Given the description of an element on the screen output the (x, y) to click on. 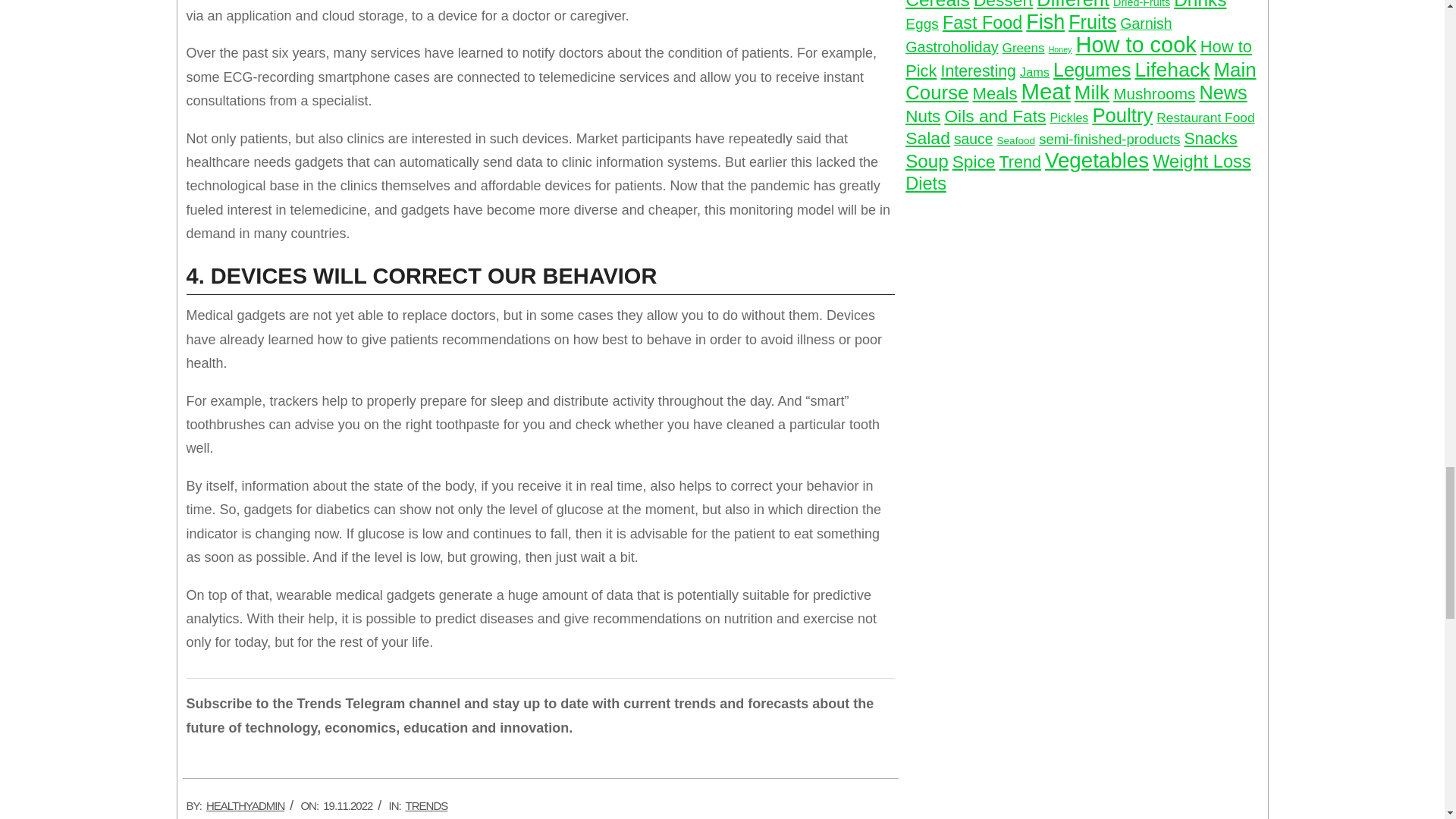
Posts by HealthyAdmin (244, 805)
Saturday, November 19, 2022, 8:36 am (347, 805)
